Given the description of an element on the screen output the (x, y) to click on. 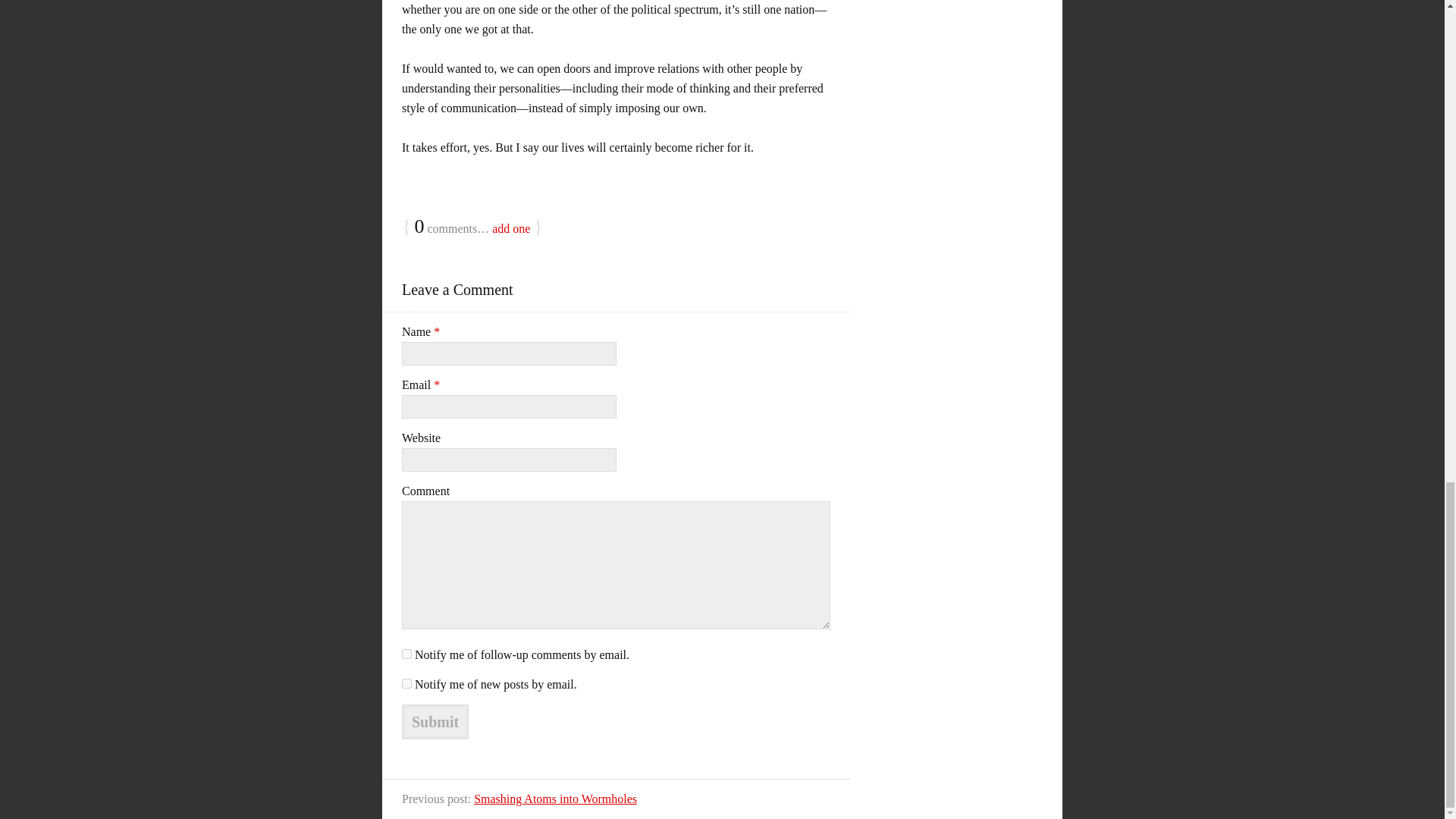
Submit (434, 721)
subscribe (406, 654)
Submit (434, 721)
add one (510, 228)
subscribe (406, 683)
Smashing Atoms into Wormholes (555, 798)
